Given the description of an element on the screen output the (x, y) to click on. 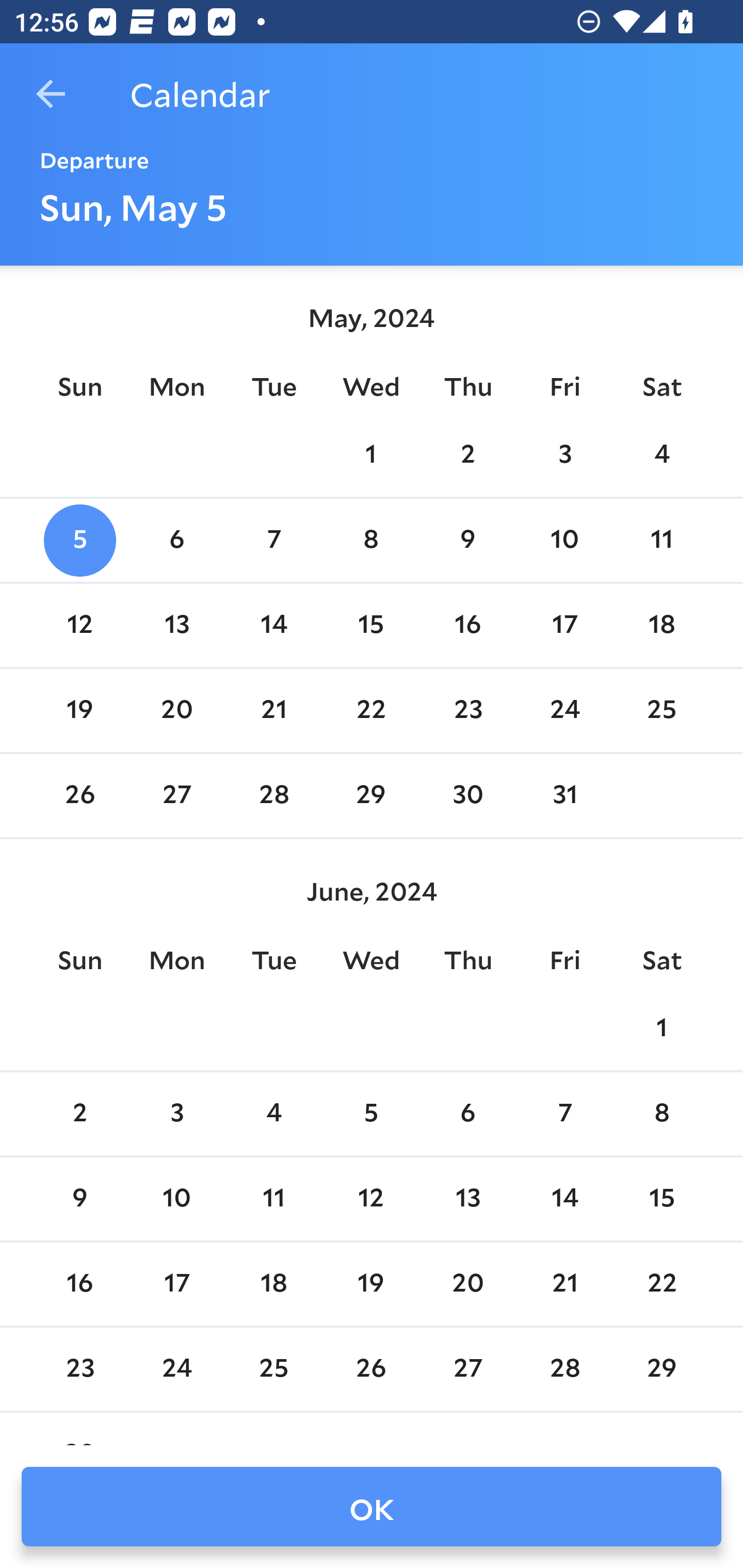
Navigate up (50, 93)
1 (371, 454)
2 (467, 454)
3 (565, 454)
4 (661, 454)
5 (79, 540)
6 (177, 540)
7 (273, 540)
8 (371, 540)
9 (467, 540)
10 (565, 540)
11 (661, 540)
12 (79, 625)
13 (177, 625)
14 (273, 625)
15 (371, 625)
16 (467, 625)
17 (565, 625)
18 (661, 625)
19 (79, 710)
20 (177, 710)
21 (273, 710)
22 (371, 710)
23 (467, 710)
24 (565, 710)
25 (661, 710)
26 (79, 796)
27 (177, 796)
28 (273, 796)
29 (371, 796)
30 (467, 796)
31 (565, 796)
1 (661, 1028)
2 (79, 1114)
3 (177, 1114)
4 (273, 1114)
5 (371, 1114)
6 (467, 1114)
7 (565, 1114)
8 (661, 1114)
9 (79, 1199)
10 (177, 1199)
11 (273, 1199)
12 (371, 1199)
13 (467, 1199)
14 (565, 1199)
15 (661, 1199)
16 (79, 1284)
17 (177, 1284)
18 (273, 1284)
19 (371, 1284)
20 (467, 1284)
21 (565, 1284)
22 (661, 1284)
23 (79, 1368)
24 (177, 1368)
25 (273, 1368)
26 (371, 1368)
27 (467, 1368)
28 (565, 1368)
29 (661, 1368)
OK (371, 1506)
